Given the description of an element on the screen output the (x, y) to click on. 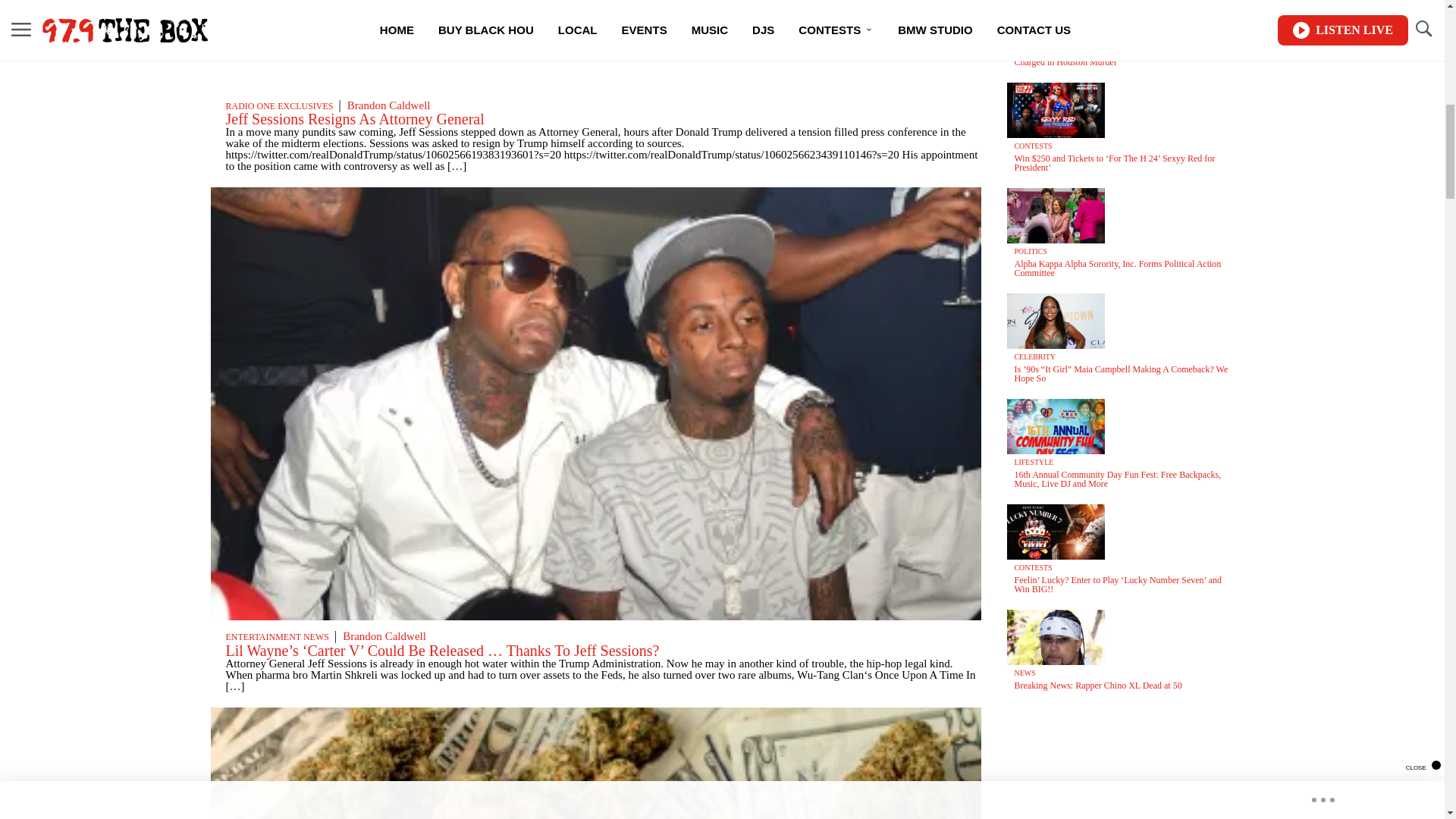
Brandon Caldwell (388, 105)
ENTERTAINMENT NEWS (277, 636)
Jeff Sessions Resigns As Attorney General (354, 118)
RADIO ONE EXCLUSIVES (279, 105)
Brandon Caldwell (384, 635)
